Given the description of an element on the screen output the (x, y) to click on. 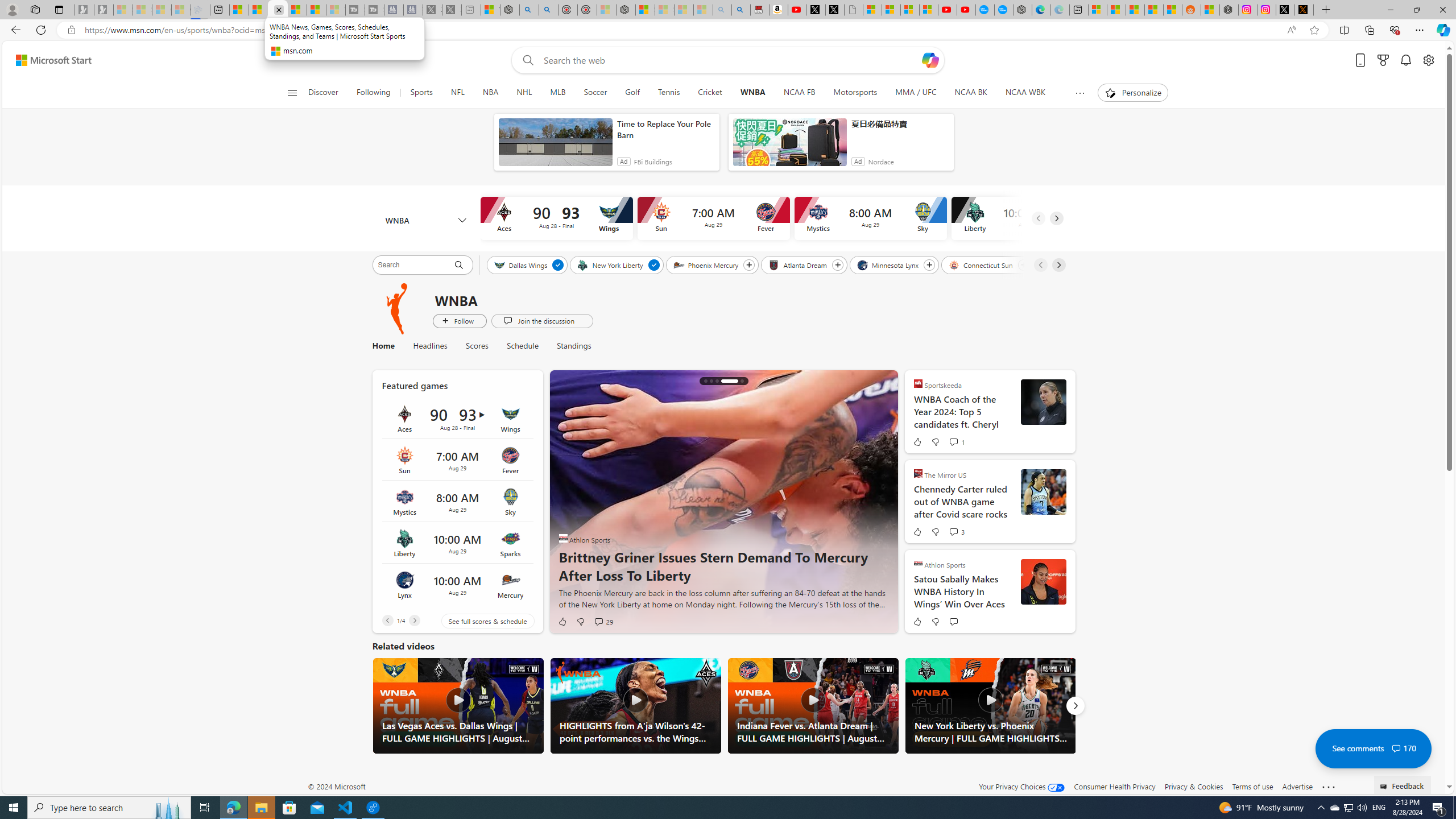
Class: feedback_link_icon-DS-EntryPoint1-1 (1384, 786)
Golf (631, 92)
MLB (558, 92)
Shanghai, China weather forecast | Microsoft Weather (1116, 9)
Sports (421, 92)
WNBA (425, 220)
Lynx vs Mercury Time 10:00 AM Date Aug 29 (456, 584)
View comments 3 Comment (956, 531)
anim-content (789, 146)
Dallas Wings (521, 264)
